Given the description of an element on the screen output the (x, y) to click on. 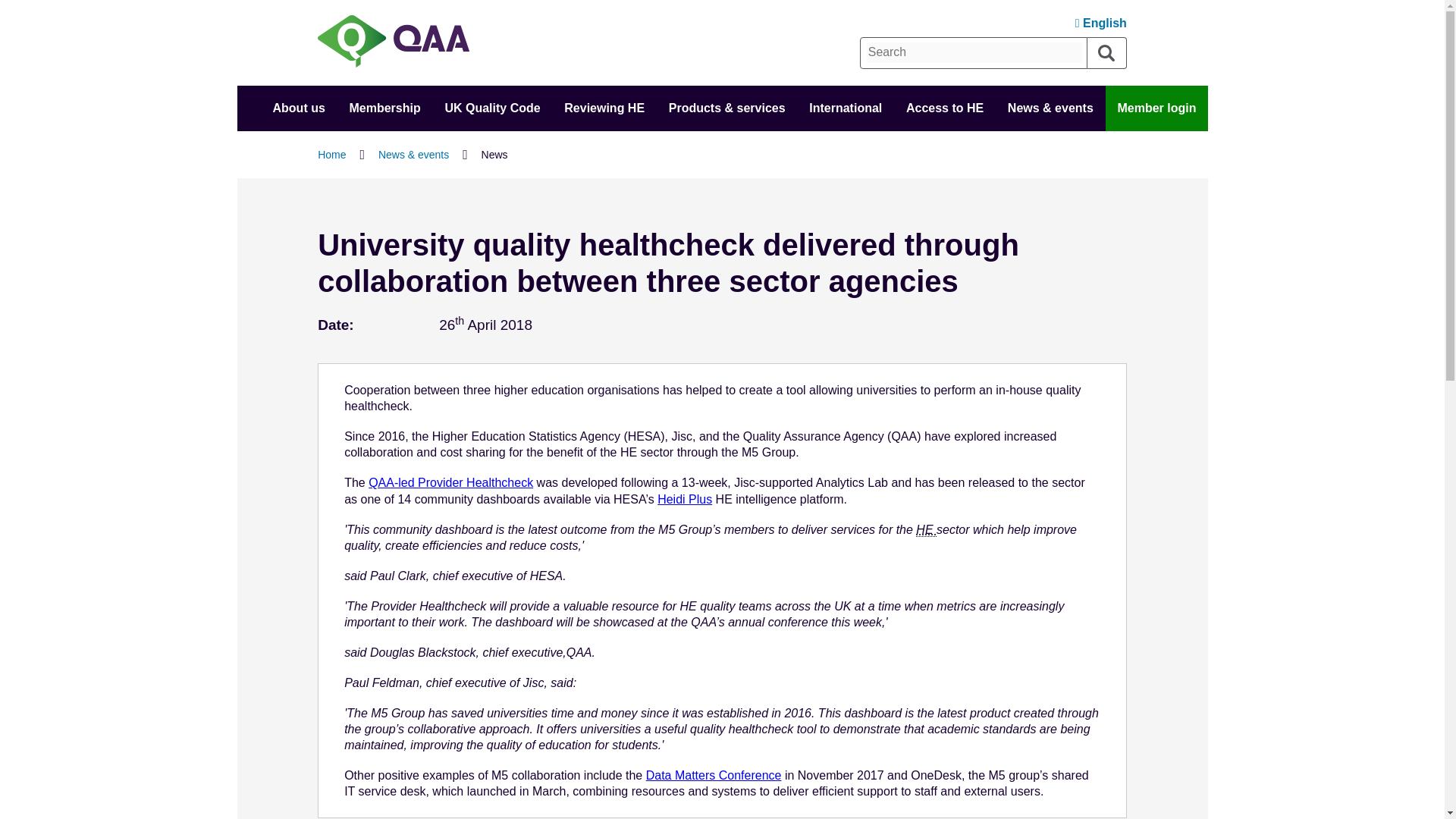
Search input (973, 52)
News details. (424, 325)
Membership (383, 108)
Takes you to HESA website (450, 481)
About us (298, 108)
Takes you to the Conference blog page (713, 775)
Further details about Heidi Plus on the HESA website (684, 499)
higher education (925, 530)
English (1100, 22)
